Given the description of an element on the screen output the (x, y) to click on. 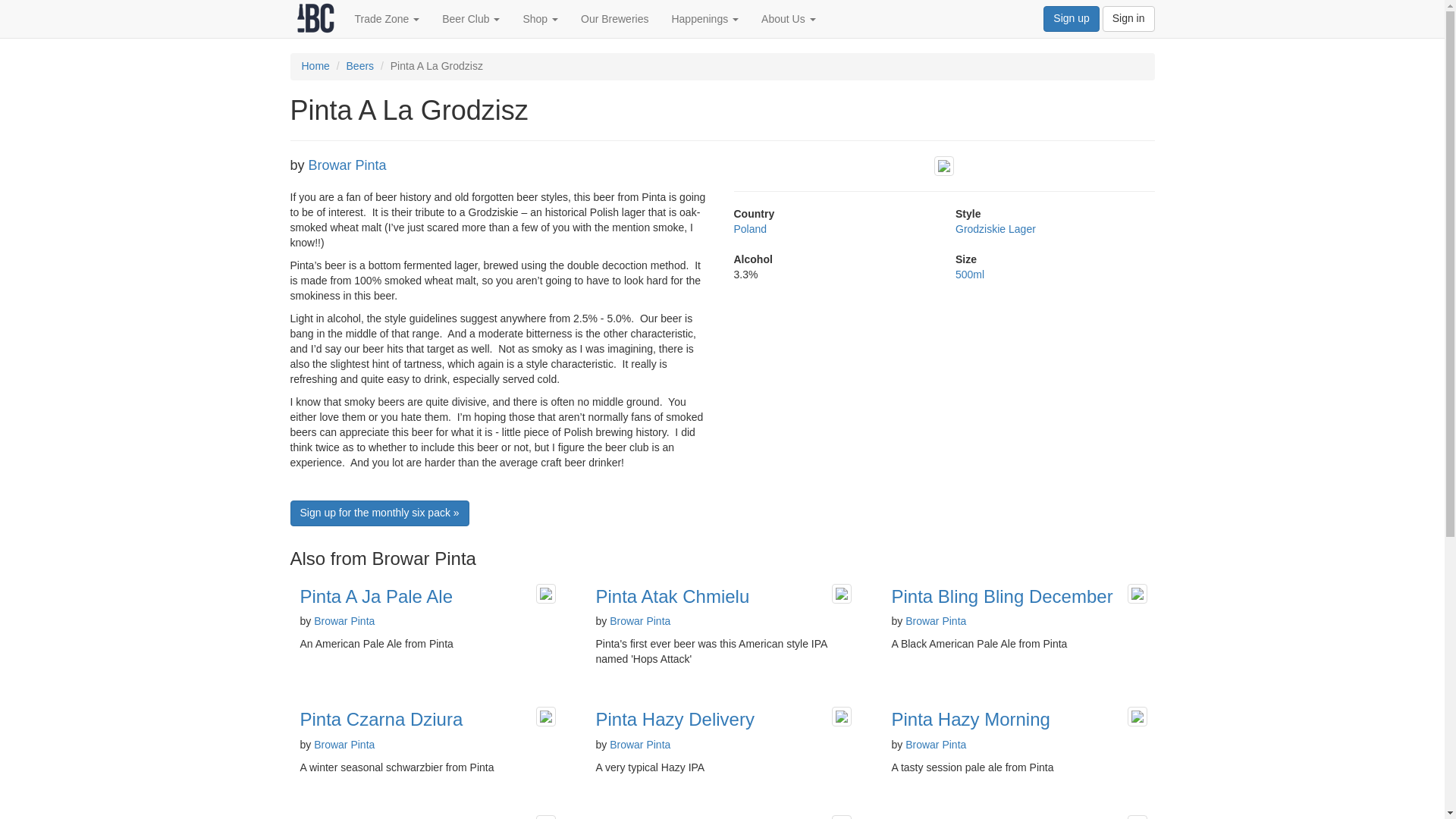
About Us (788, 18)
Pinta Atak Chmielu (672, 596)
Browar Pinta (344, 621)
Happenings (704, 18)
Sign up (1071, 18)
500ml (969, 274)
Beer Club (470, 18)
Browar Pinta (347, 165)
Poland (750, 228)
Trade Zone (386, 18)
